Given the description of an element on the screen output the (x, y) to click on. 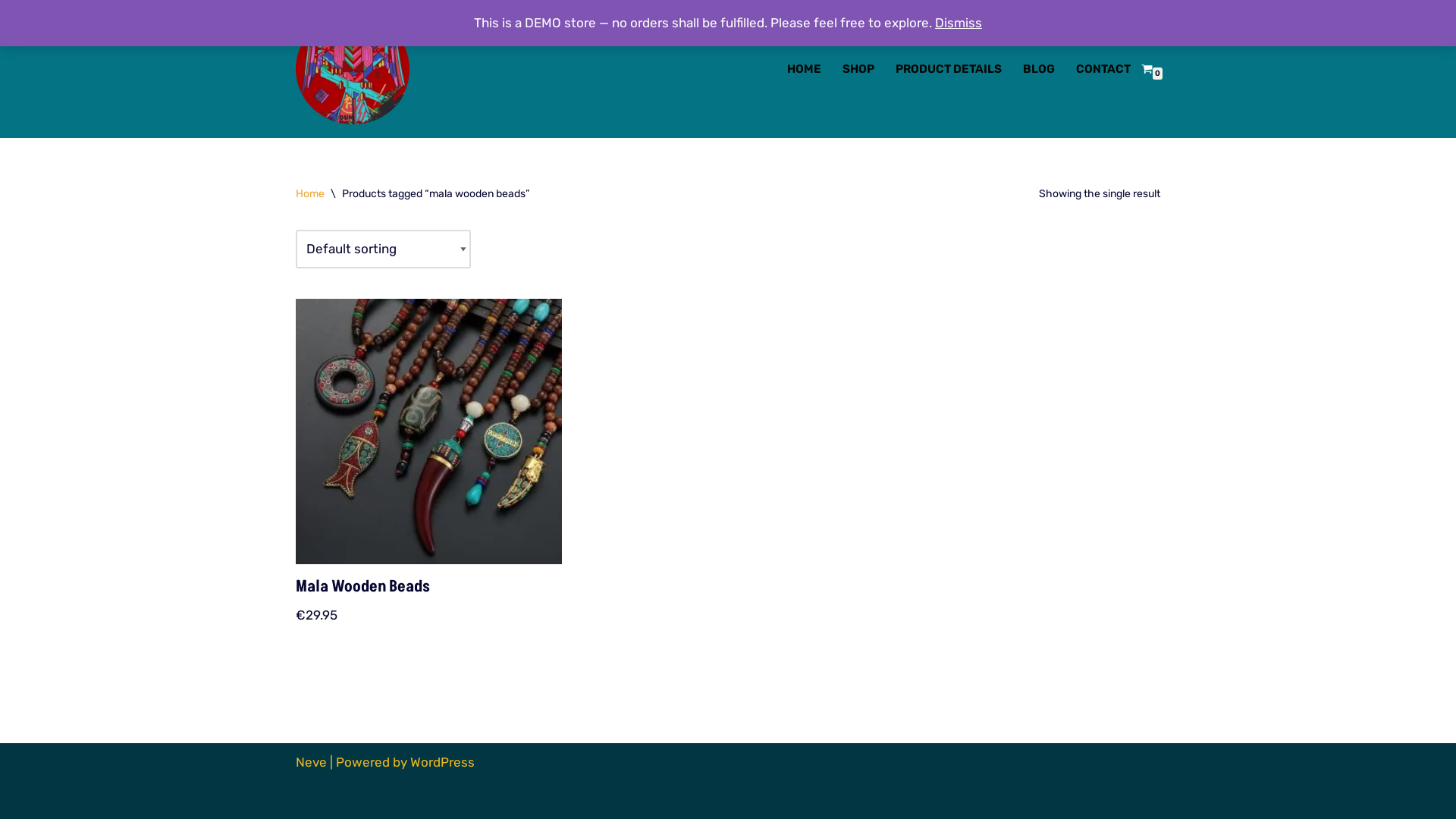
Neve Element type: text (310, 761)
0 Element type: text (1146, 68)
Dismiss Element type: text (958, 22)
PRODUCT DETAILS Element type: text (948, 68)
SHOP Element type: text (858, 68)
CONTACT Element type: text (1103, 68)
Home Element type: text (309, 192)
BLOG Element type: text (1038, 68)
HOME Element type: text (804, 68)
Skip to content Element type: text (11, 31)
WordPress Element type: text (442, 761)
